Given the description of an element on the screen output the (x, y) to click on. 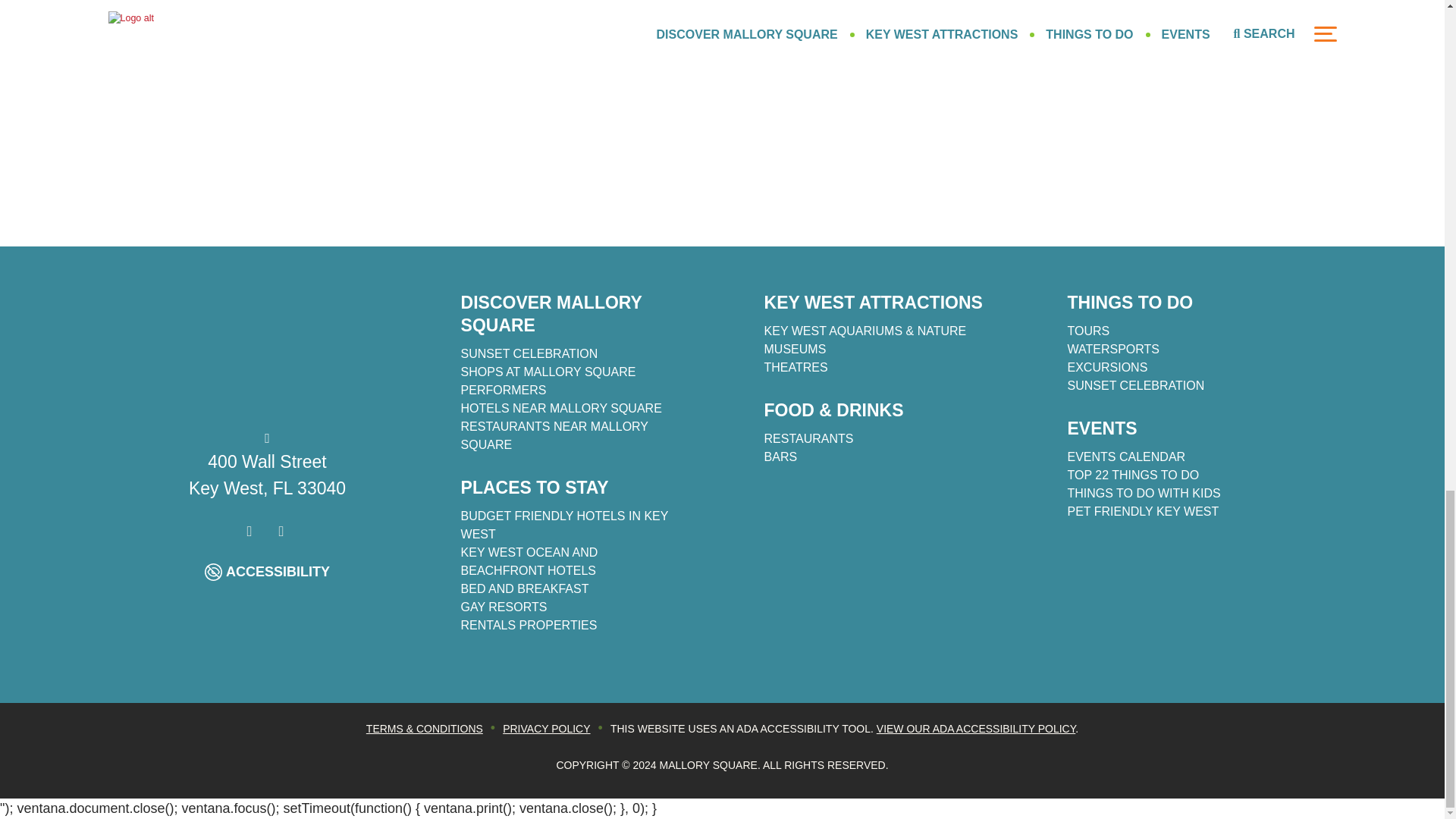
Fury Golf Car Rentals (1203, 70)
